Given the description of an element on the screen output the (x, y) to click on. 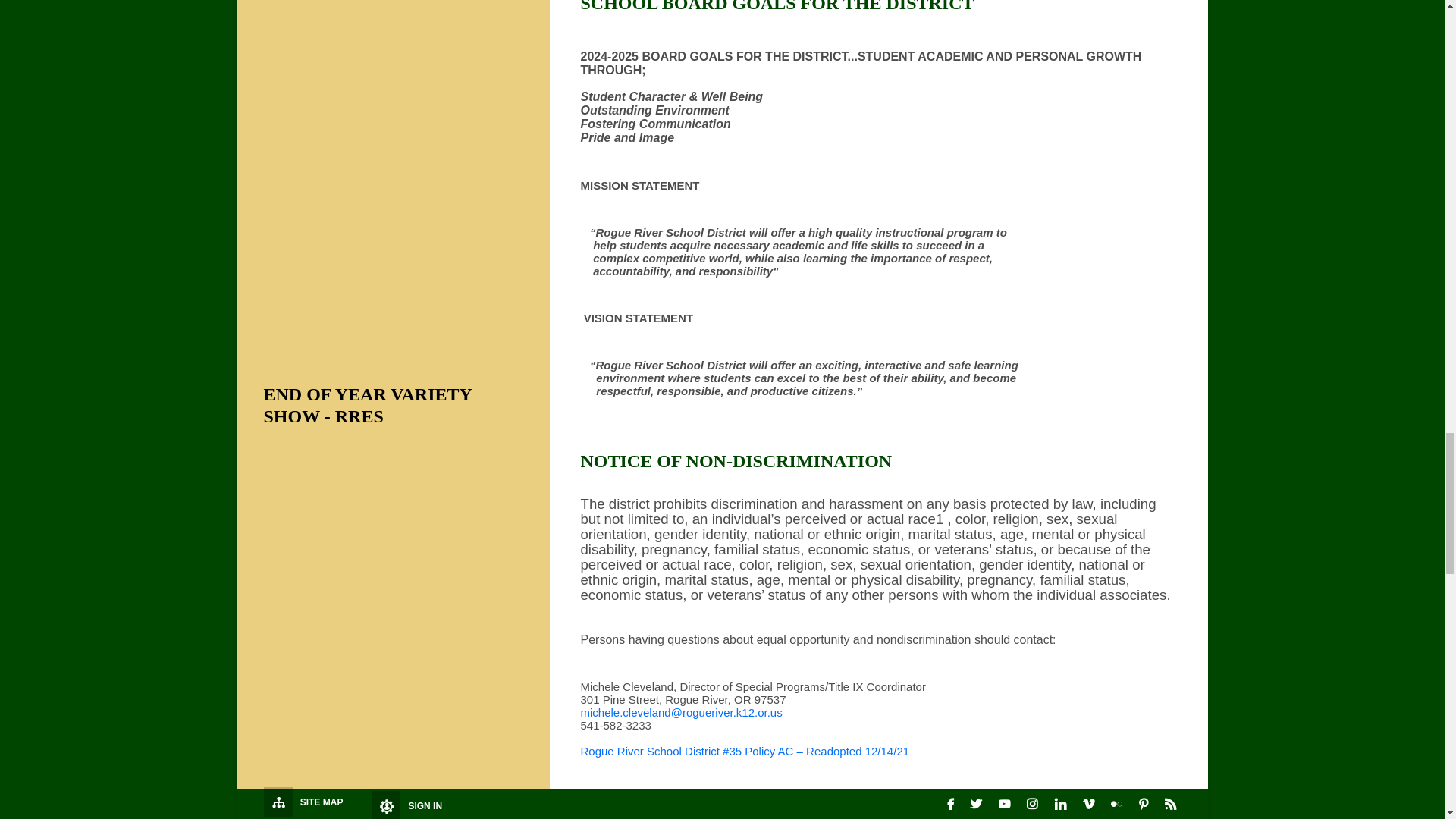
YouTube video player (396, 584)
